Given the description of an element on the screen output the (x, y) to click on. 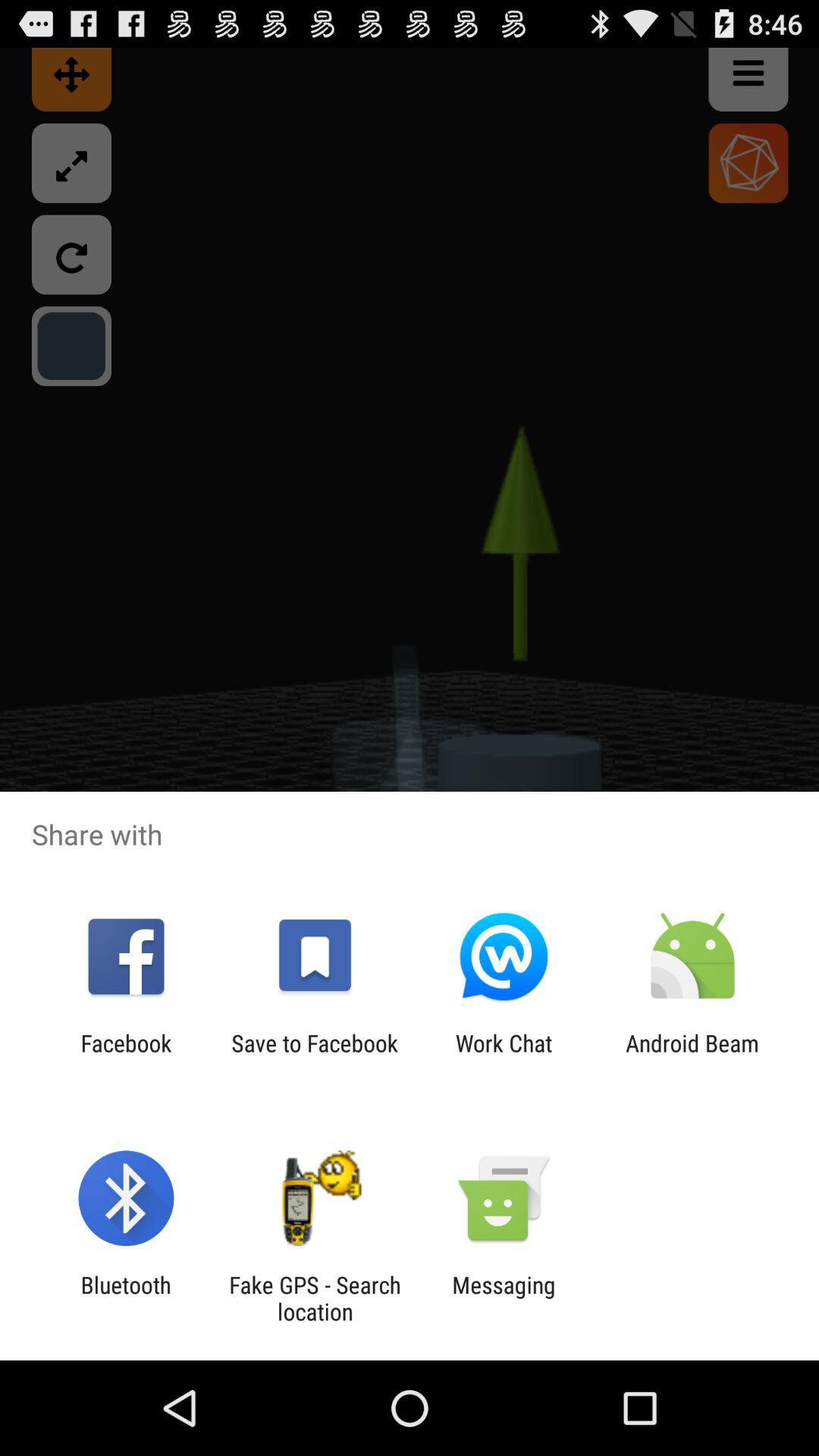
flip until messaging app (503, 1298)
